Given the description of an element on the screen output the (x, y) to click on. 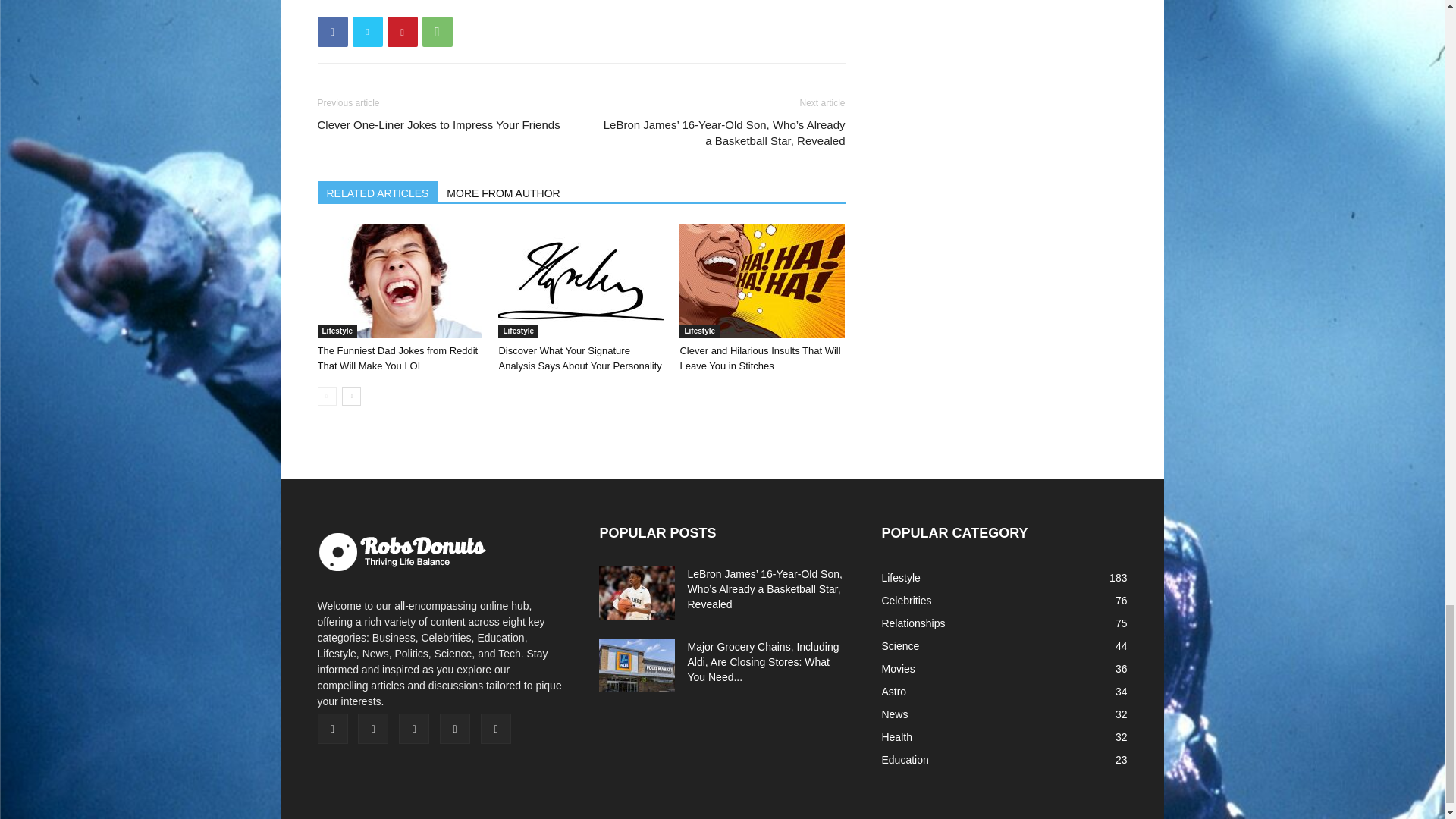
Facebook (332, 31)
